Given the description of an element on the screen output the (x, y) to click on. 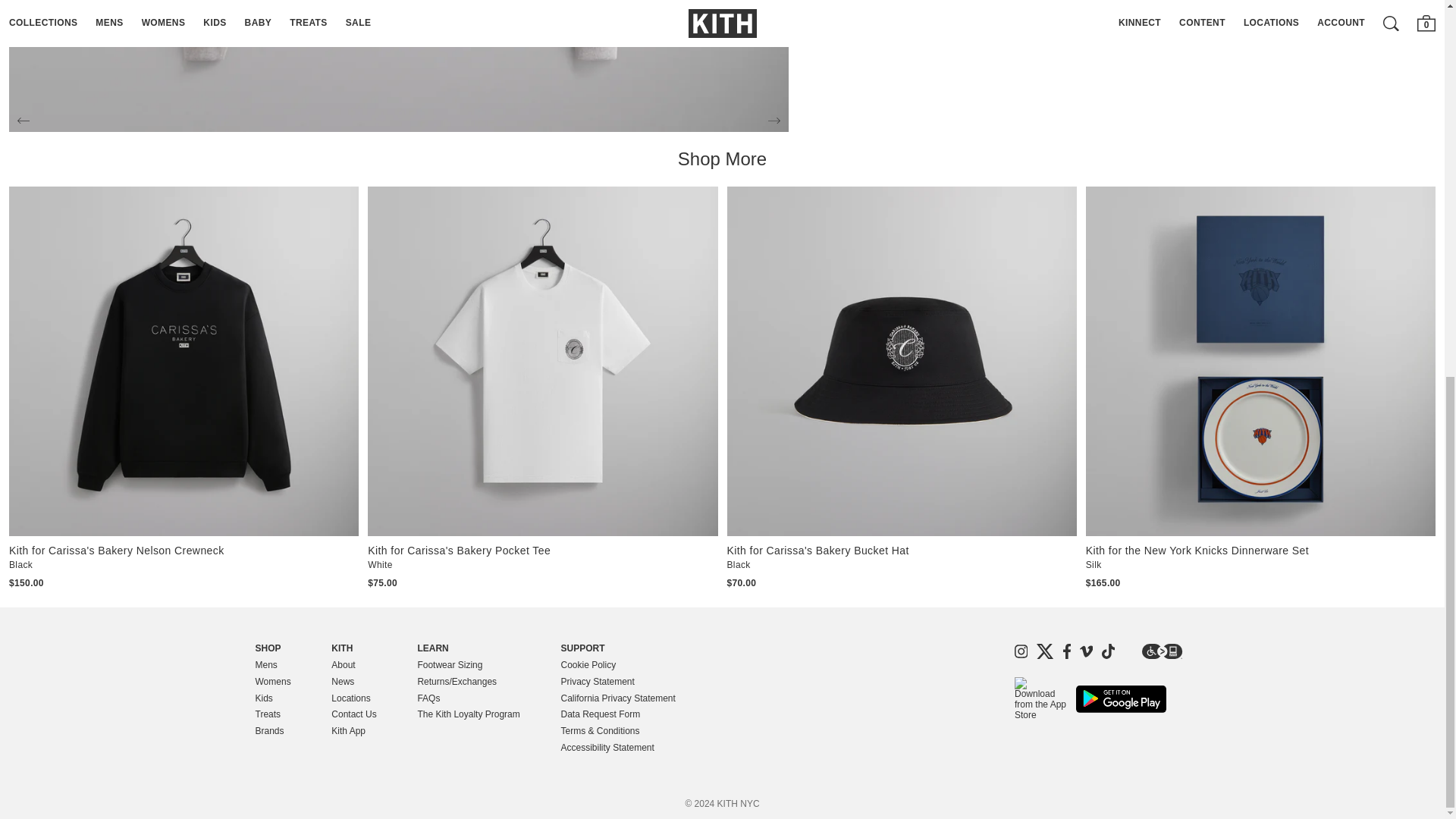
X (1044, 651)
essential Accessibility Icon (1161, 651)
X (1044, 651)
Instagram (1020, 651)
Vimeo (1086, 651)
